Given the description of an element on the screen output the (x, y) to click on. 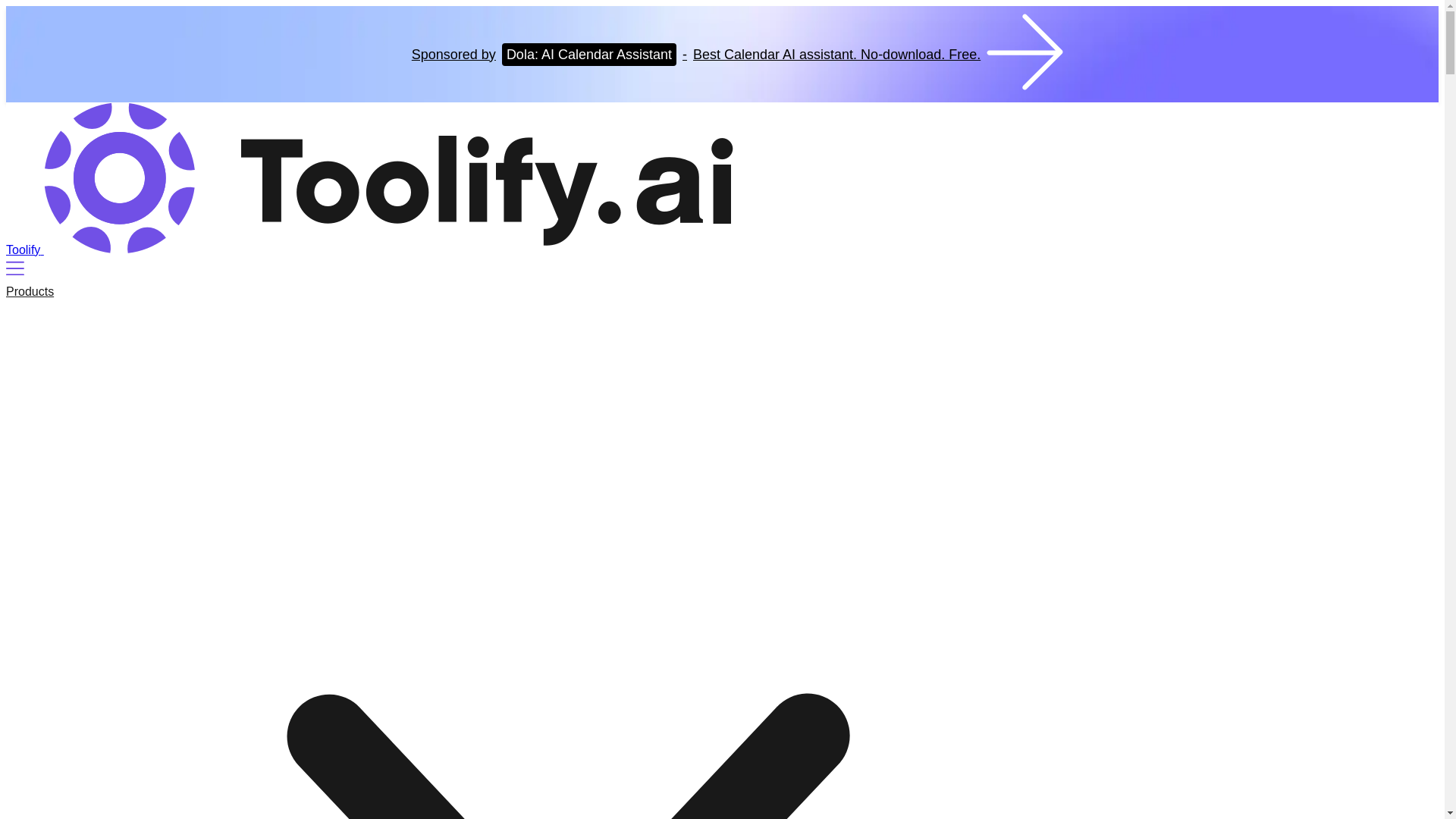
Toolify (369, 249)
